Given the description of an element on the screen output the (x, y) to click on. 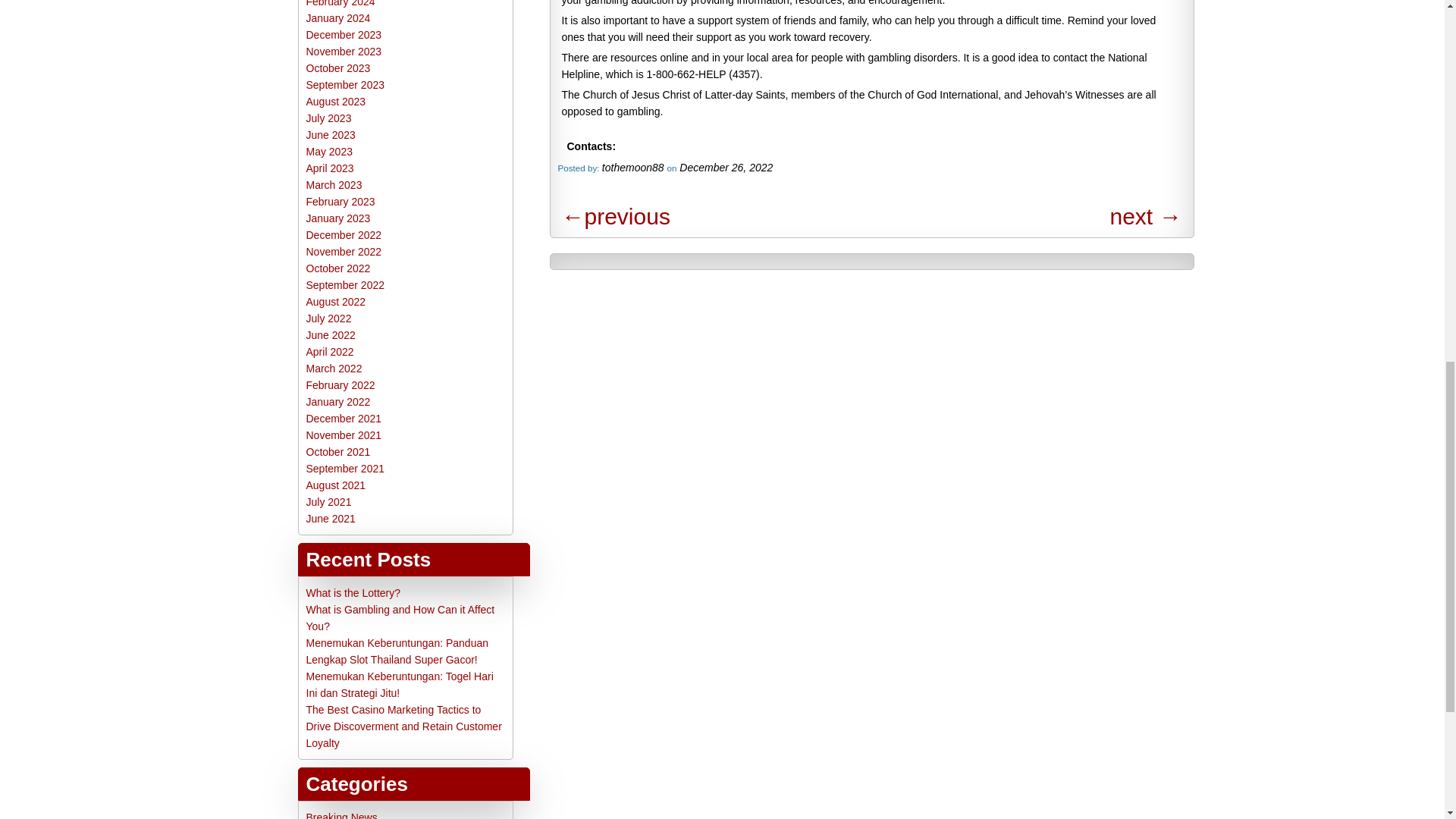
January 2024 (338, 18)
August 2023 (335, 101)
November 2023 (343, 51)
July 2023 (328, 118)
December 2023 (343, 34)
February 2024 (340, 3)
October 2023 (338, 68)
September 2023 (345, 84)
June 2023 (330, 134)
